Given the description of an element on the screen output the (x, y) to click on. 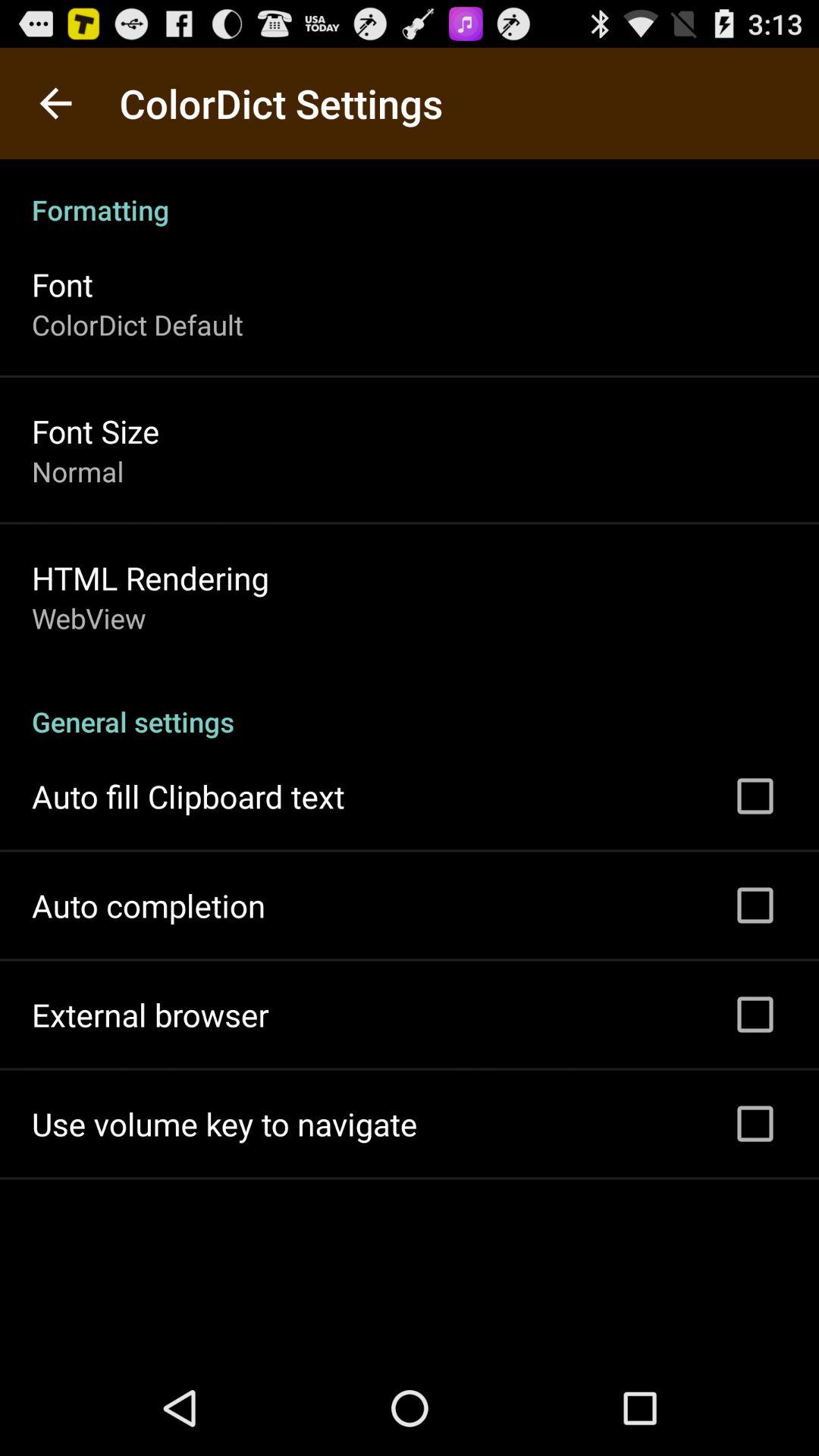
turn on app above the html rendering icon (77, 471)
